Given the description of an element on the screen output the (x, y) to click on. 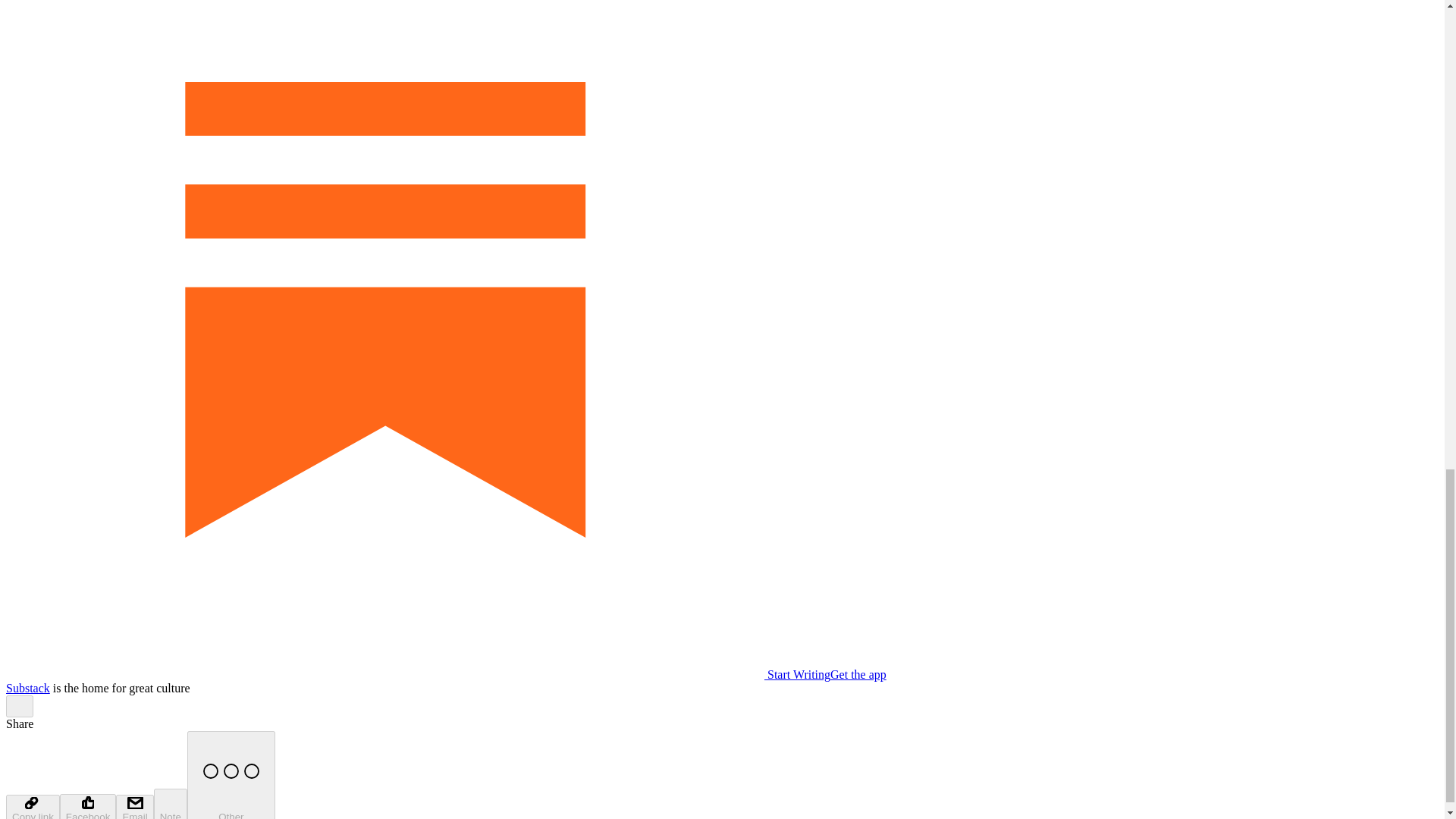
Start Writing (417, 674)
Get the app (857, 674)
Substack (27, 687)
